Given the description of an element on the screen output the (x, y) to click on. 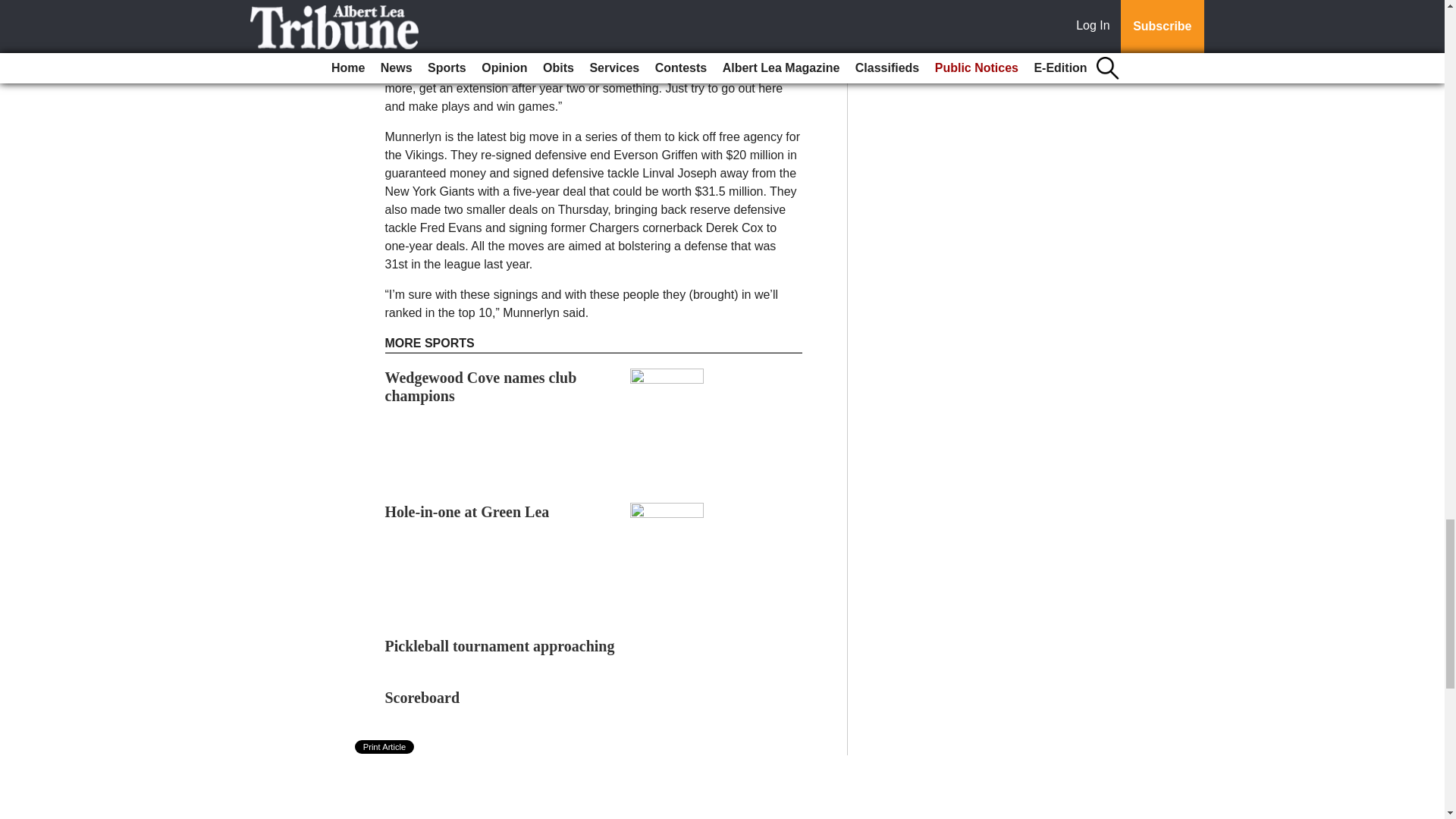
Scoreboard (422, 697)
Wedgewood Cove names club champions (480, 386)
Hole-in-one at Green Lea (467, 511)
Pickleball tournament approaching (499, 646)
